Given the description of an element on the screen output the (x, y) to click on. 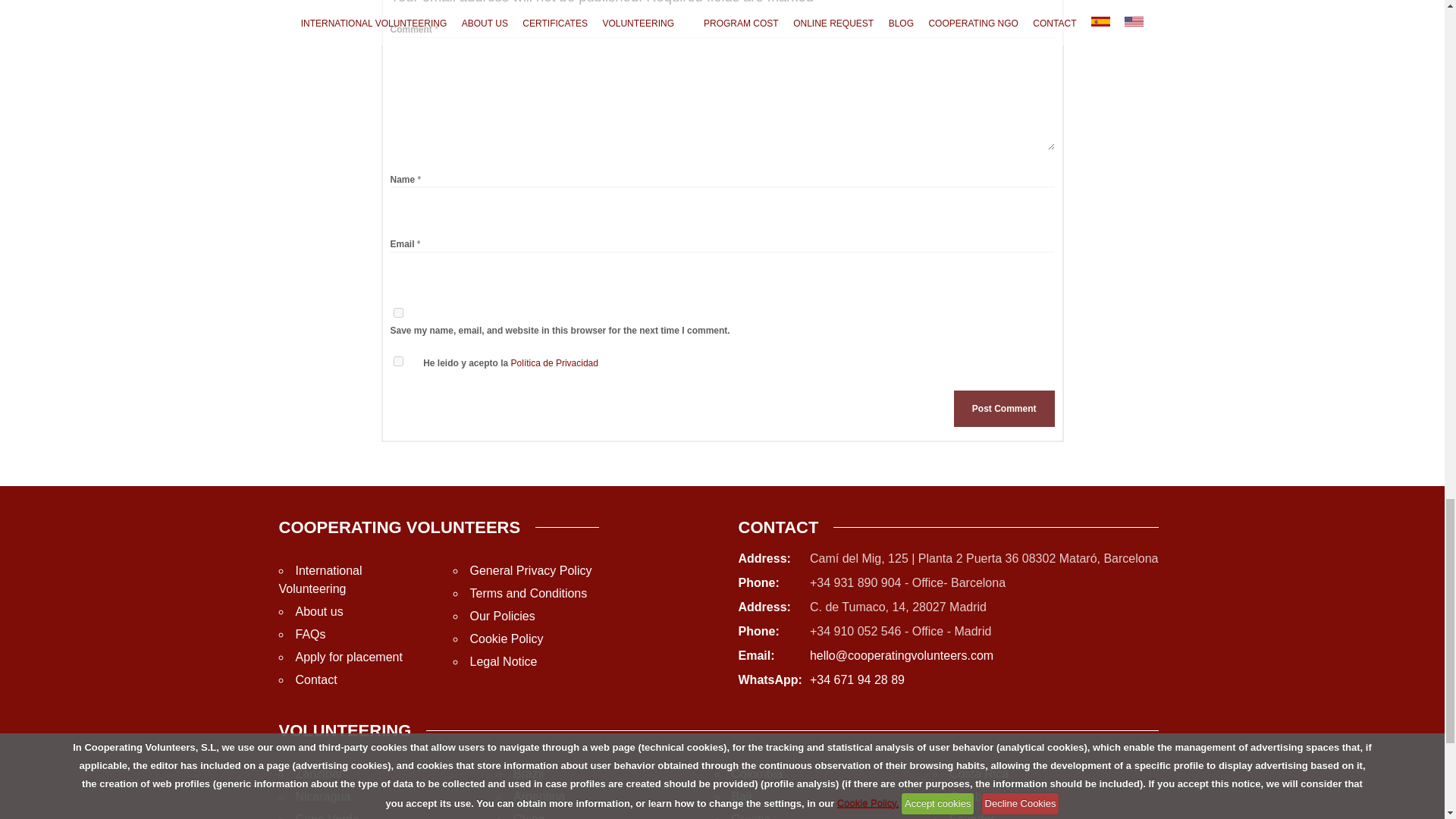
Post Comment (1003, 408)
yes (398, 312)
